Given the description of an element on the screen output the (x, y) to click on. 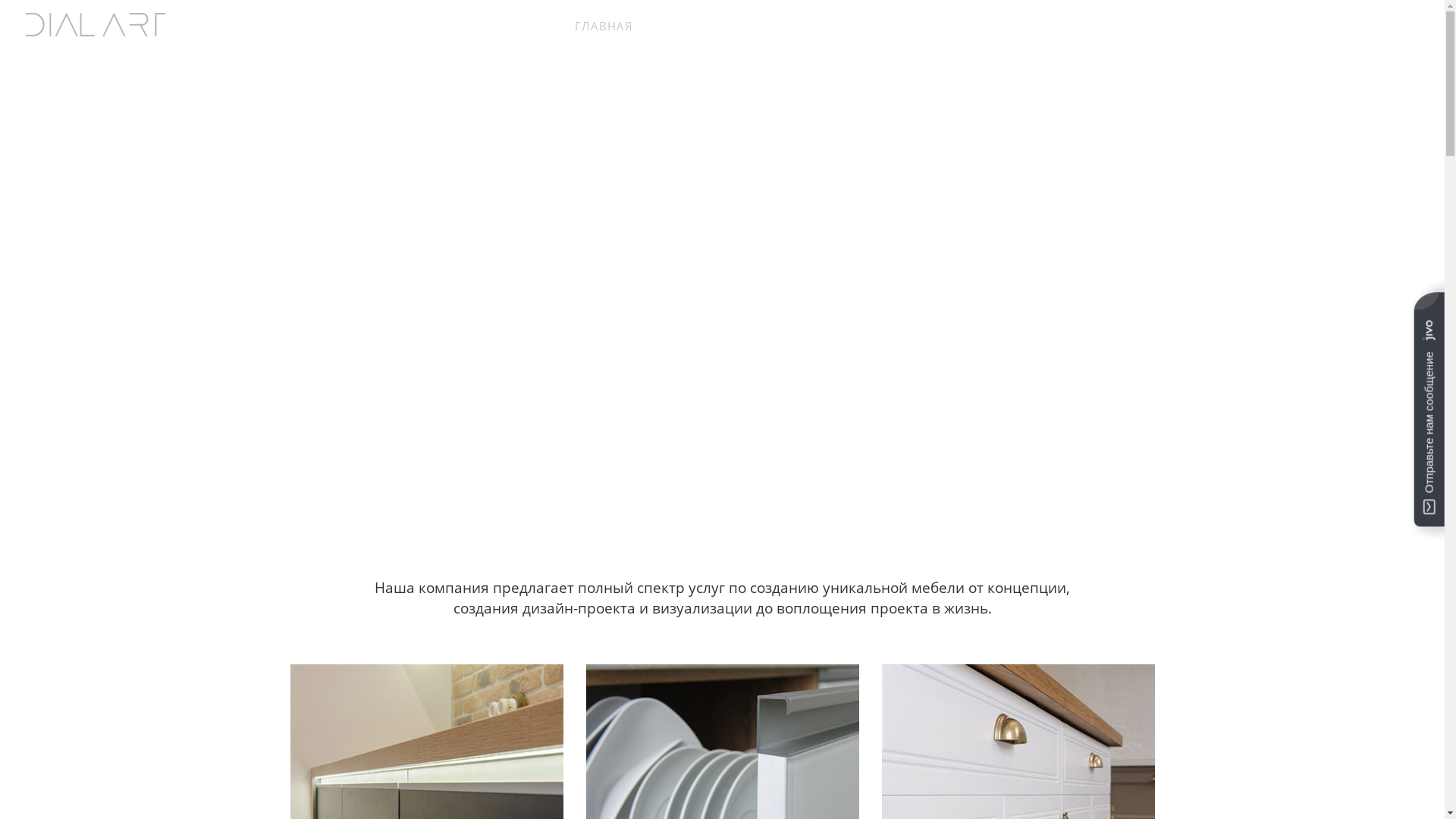
+375 29 683 02 80 Element type: text (1361, 27)
